Given the description of an element on the screen output the (x, y) to click on. 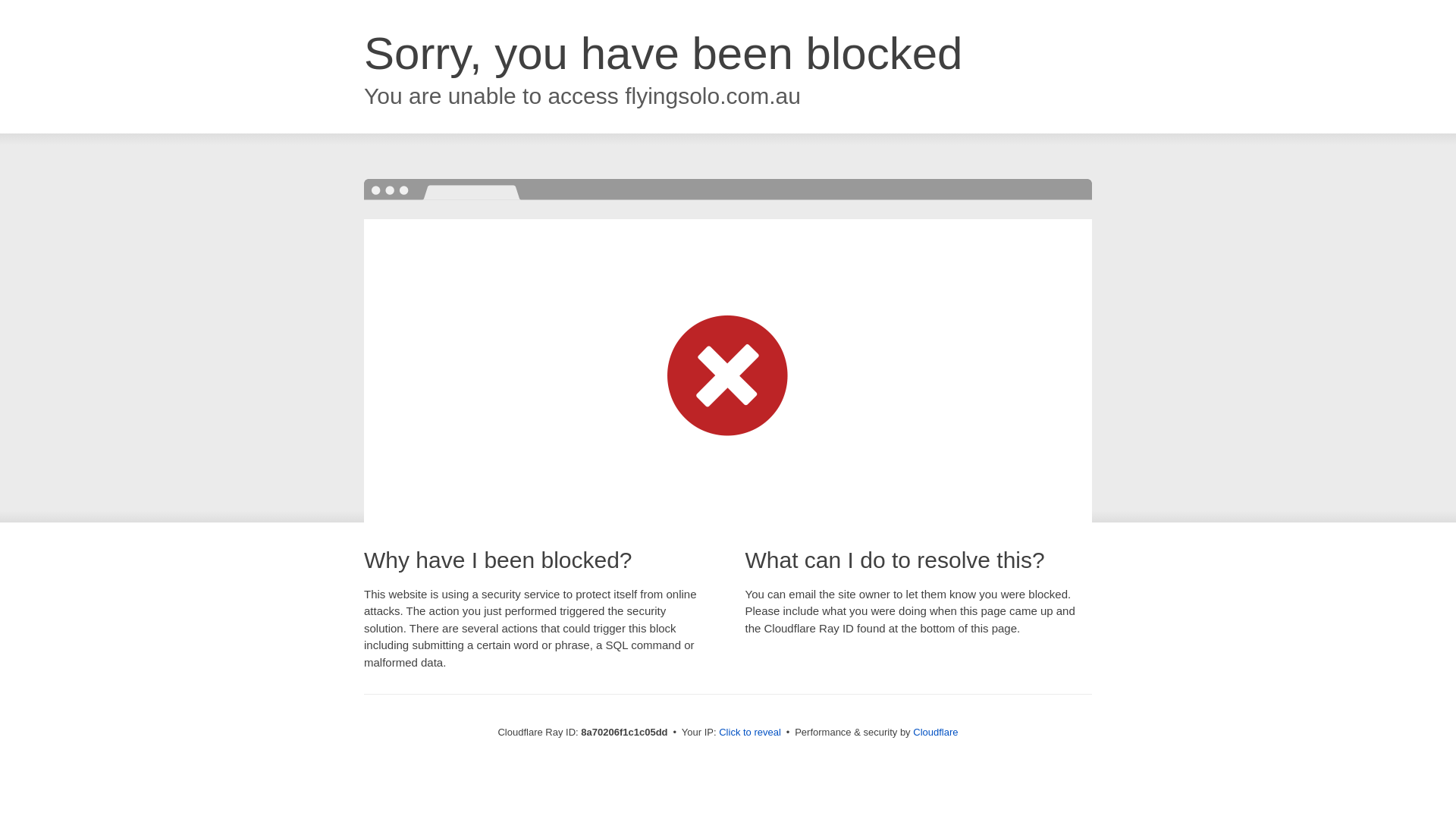
Cloudflare (935, 731)
Click to reveal (749, 732)
